Given the description of an element on the screen output the (x, y) to click on. 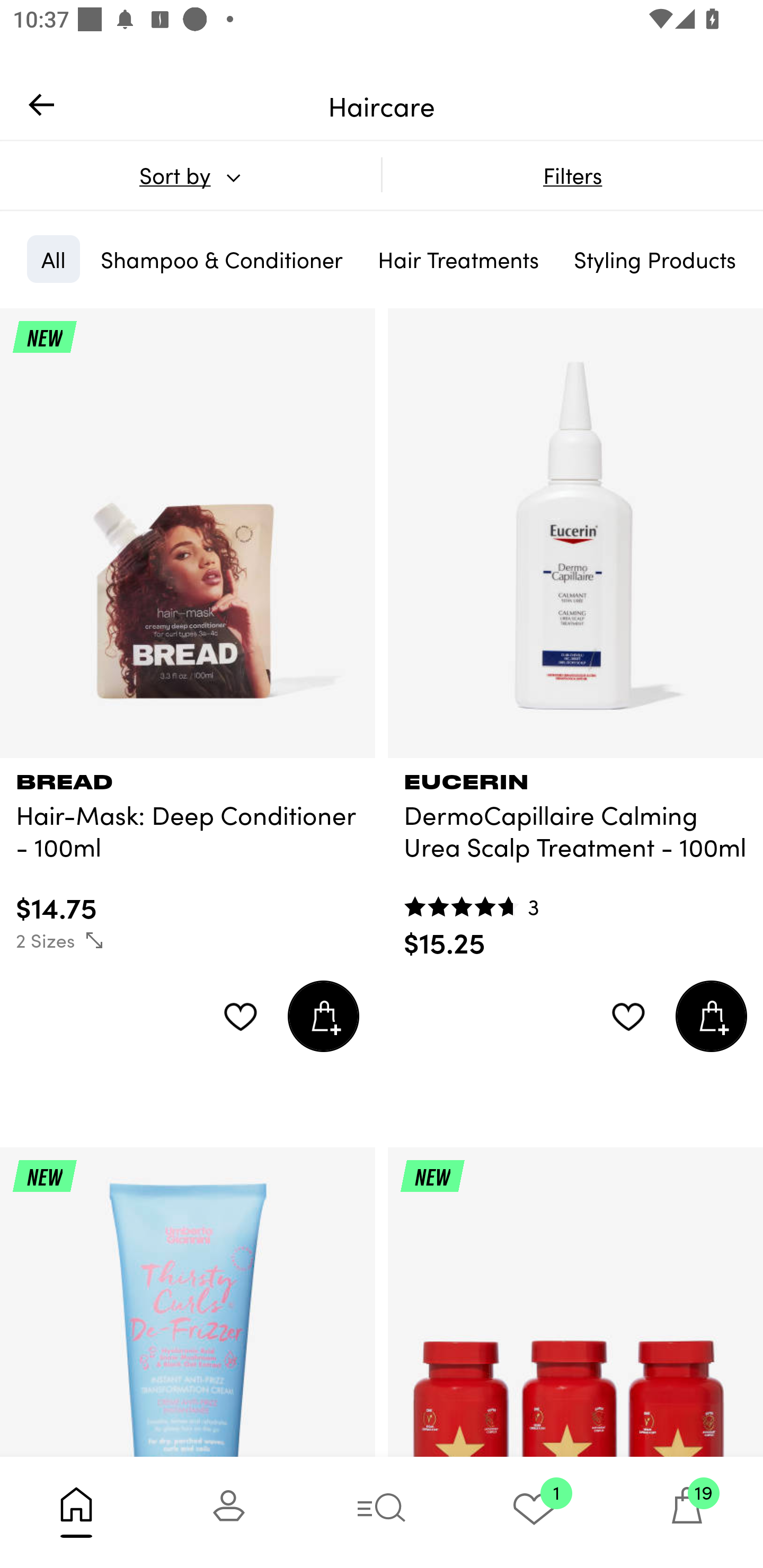
Sort by (190, 174)
Filters (572, 174)
All (53, 258)
Shampoo & Conditioner (221, 258)
Hair Treatments (458, 258)
Styling Products (654, 258)
1 (533, 1512)
19 (686, 1512)
